Given the description of an element on the screen output the (x, y) to click on. 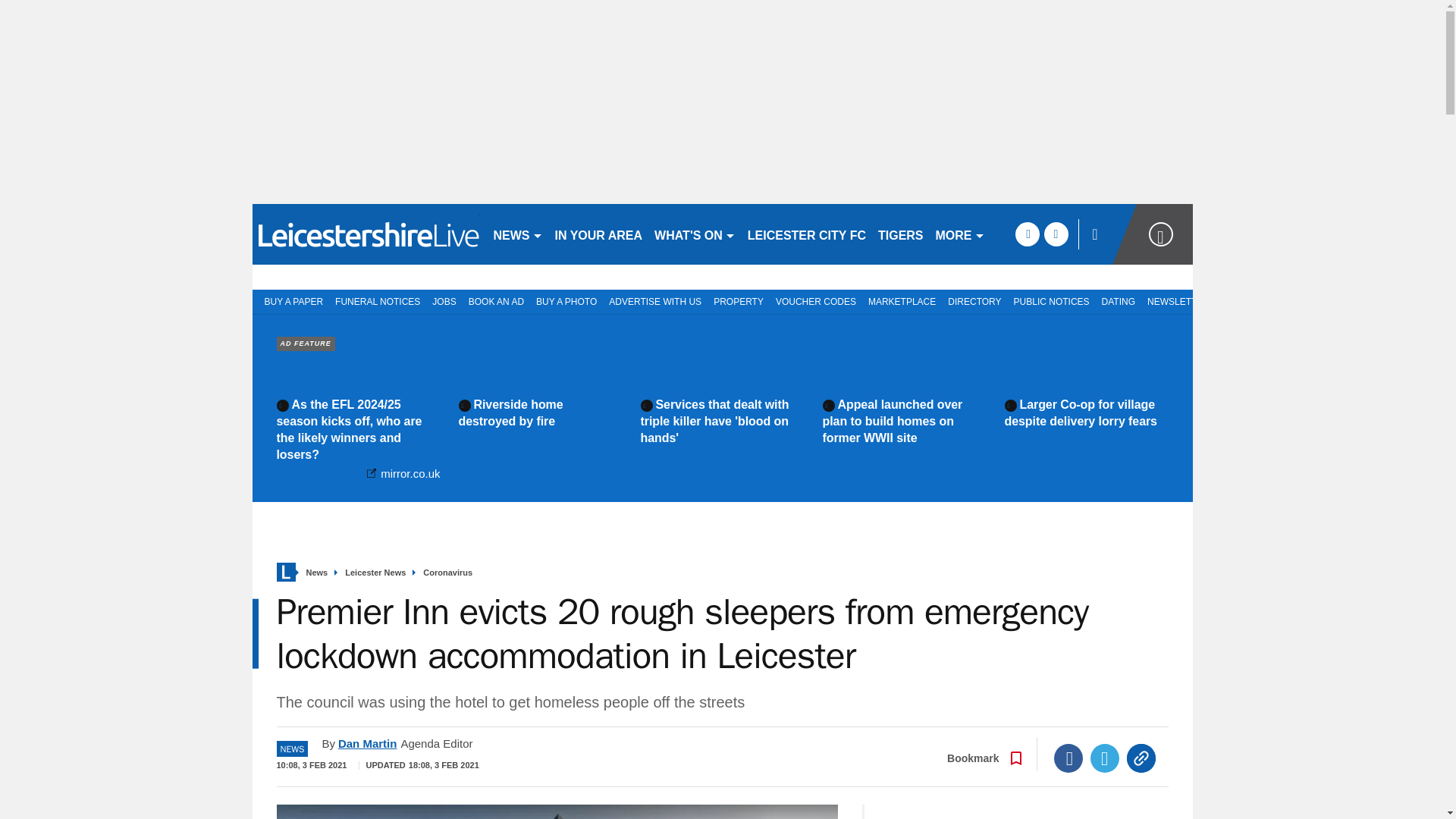
WHAT'S ON (694, 233)
IN YOUR AREA (598, 233)
TIGERS (901, 233)
facebook (1026, 233)
leicestermercury (365, 233)
NEWS (517, 233)
LEICESTER CITY FC (806, 233)
twitter (1055, 233)
Twitter (1104, 758)
MORE (960, 233)
